Given the description of an element on the screen output the (x, y) to click on. 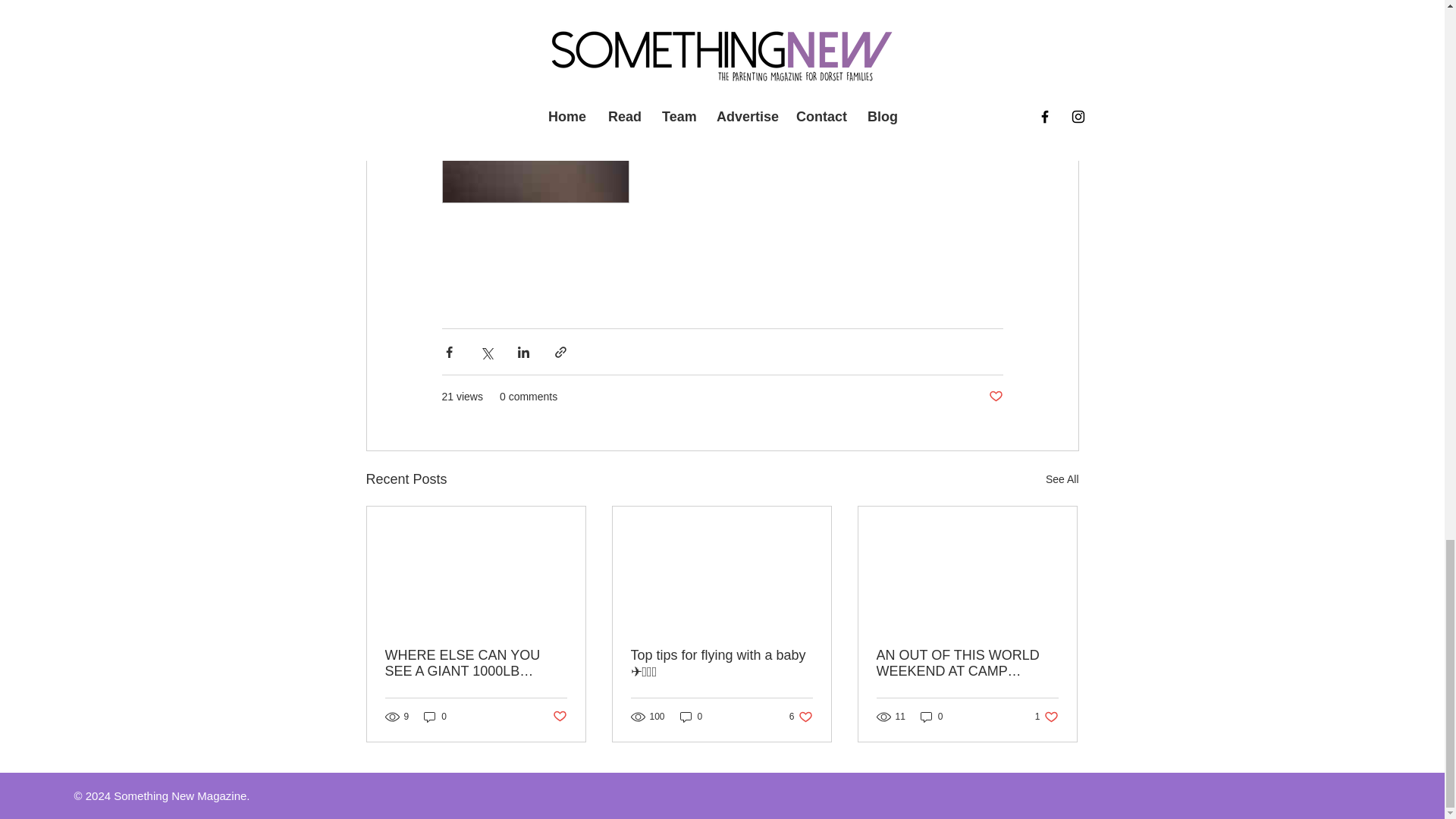
0 (435, 716)
Post not marked as liked (558, 716)
See All (1061, 479)
Post not marked as liked (800, 716)
0 (995, 396)
